Given the description of an element on the screen output the (x, y) to click on. 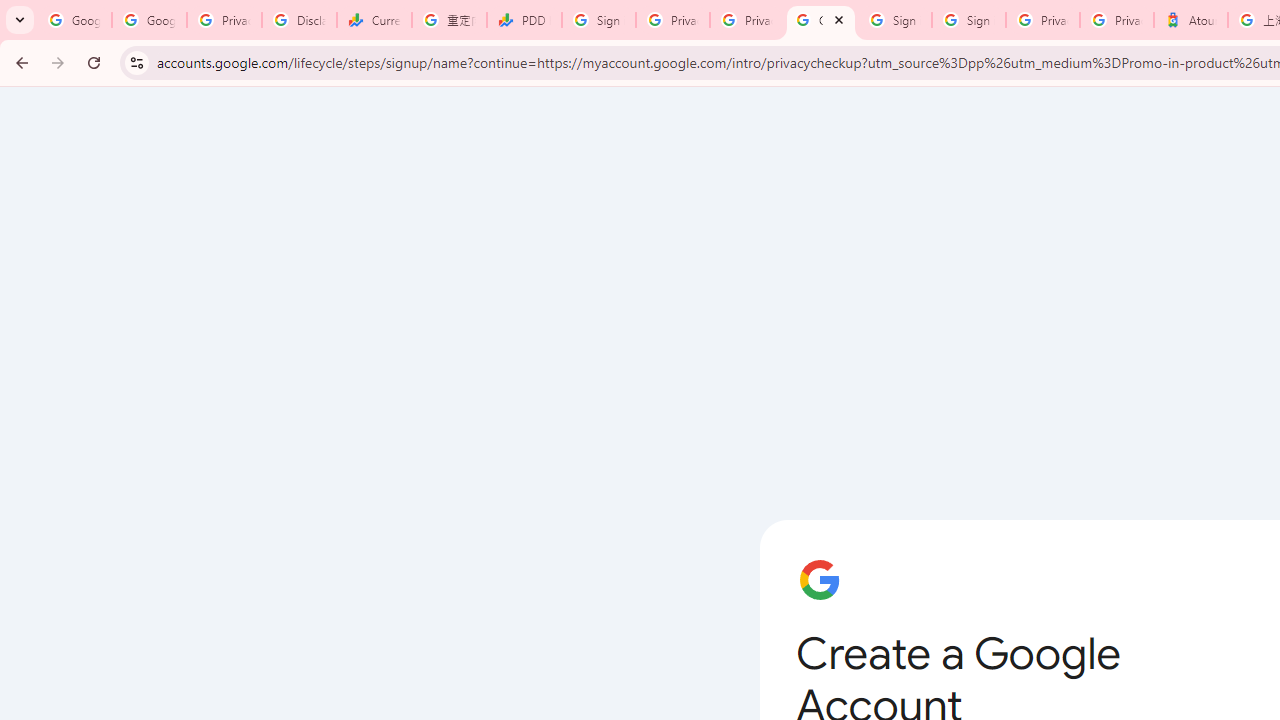
Forward (57, 62)
Google Workspace Admin Community (74, 20)
Atour Hotel - Google hotels (1190, 20)
PDD Holdings Inc - ADR (PDD) Price & News - Google Finance (523, 20)
